Given the description of an element on the screen output the (x, y) to click on. 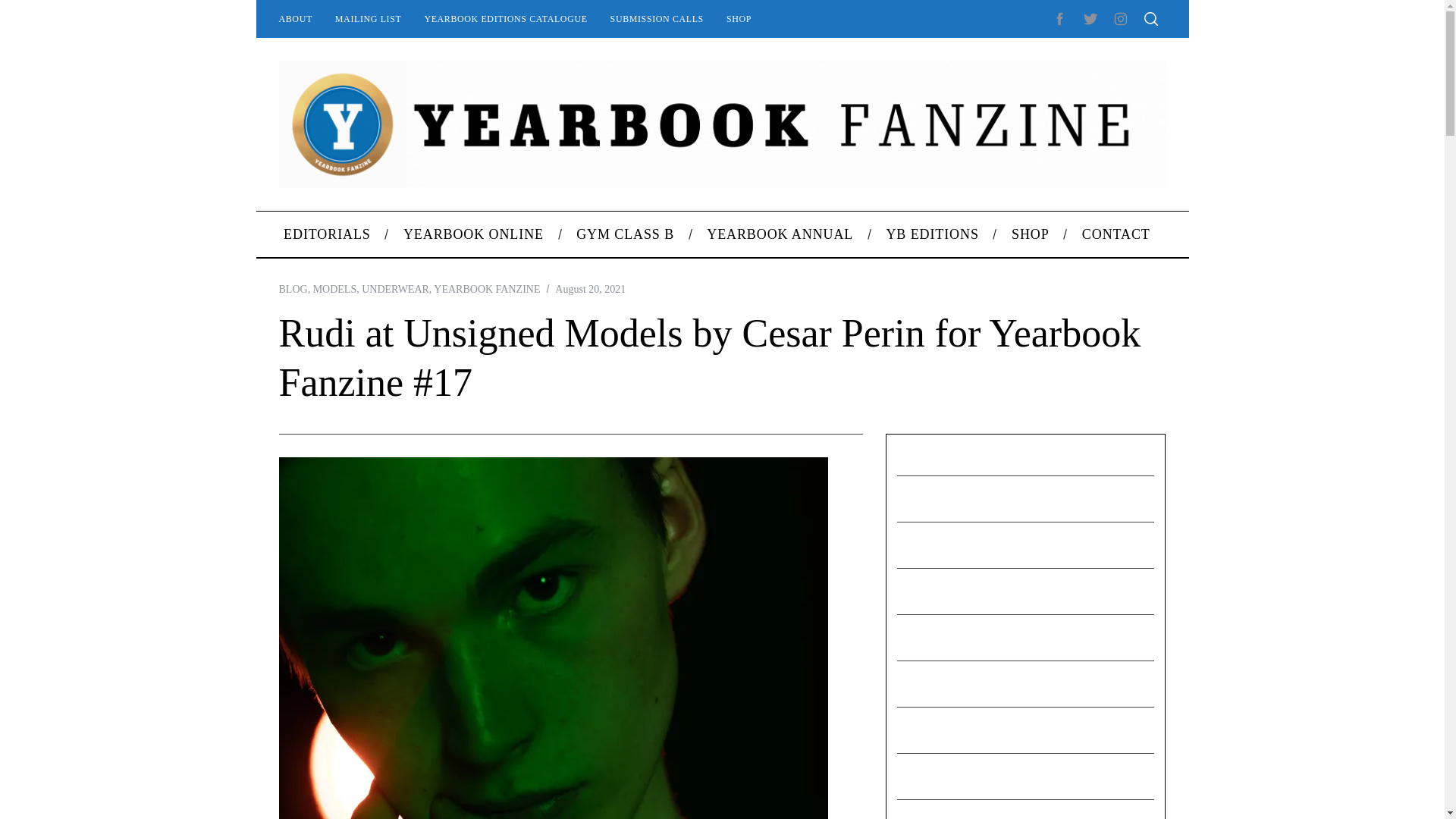
GYM CLASS B (625, 234)
YEARBOOK ONLINE (473, 234)
YEARBOOK FANZINE (486, 288)
MAILING LIST (368, 18)
YEARBOOK EDITIONS CATALOGUE (505, 18)
YEARBOOK ANNUAL (779, 234)
EDITORIALS (326, 234)
UNDERWEAR (395, 288)
MODELS (334, 288)
SHOP (738, 18)
ABOUT (294, 18)
BLOG (293, 288)
SUBMISSION CALLS (656, 18)
